Given the description of an element on the screen output the (x, y) to click on. 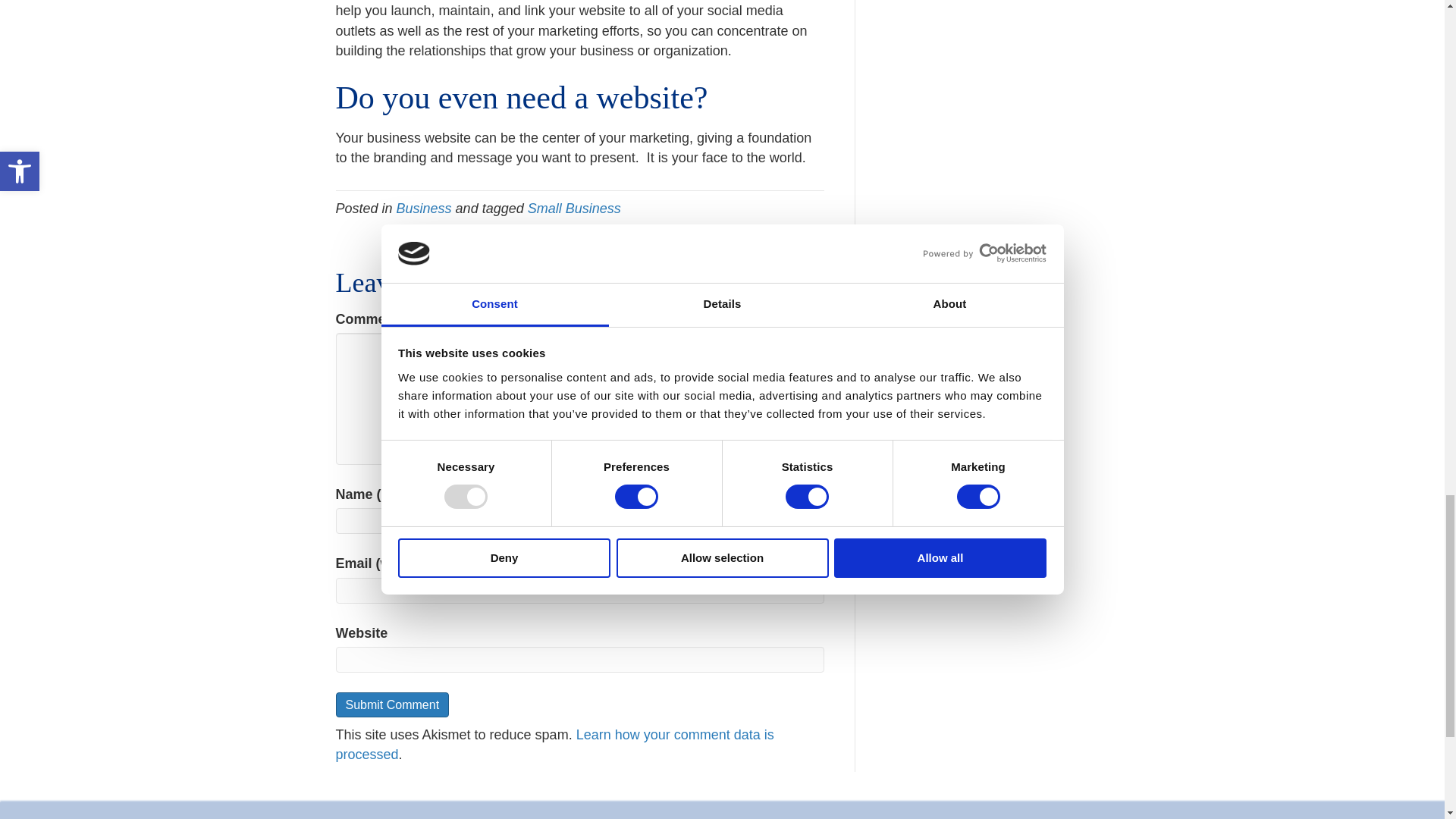
Submit Comment (391, 704)
